Given the description of an element on the screen output the (x, y) to click on. 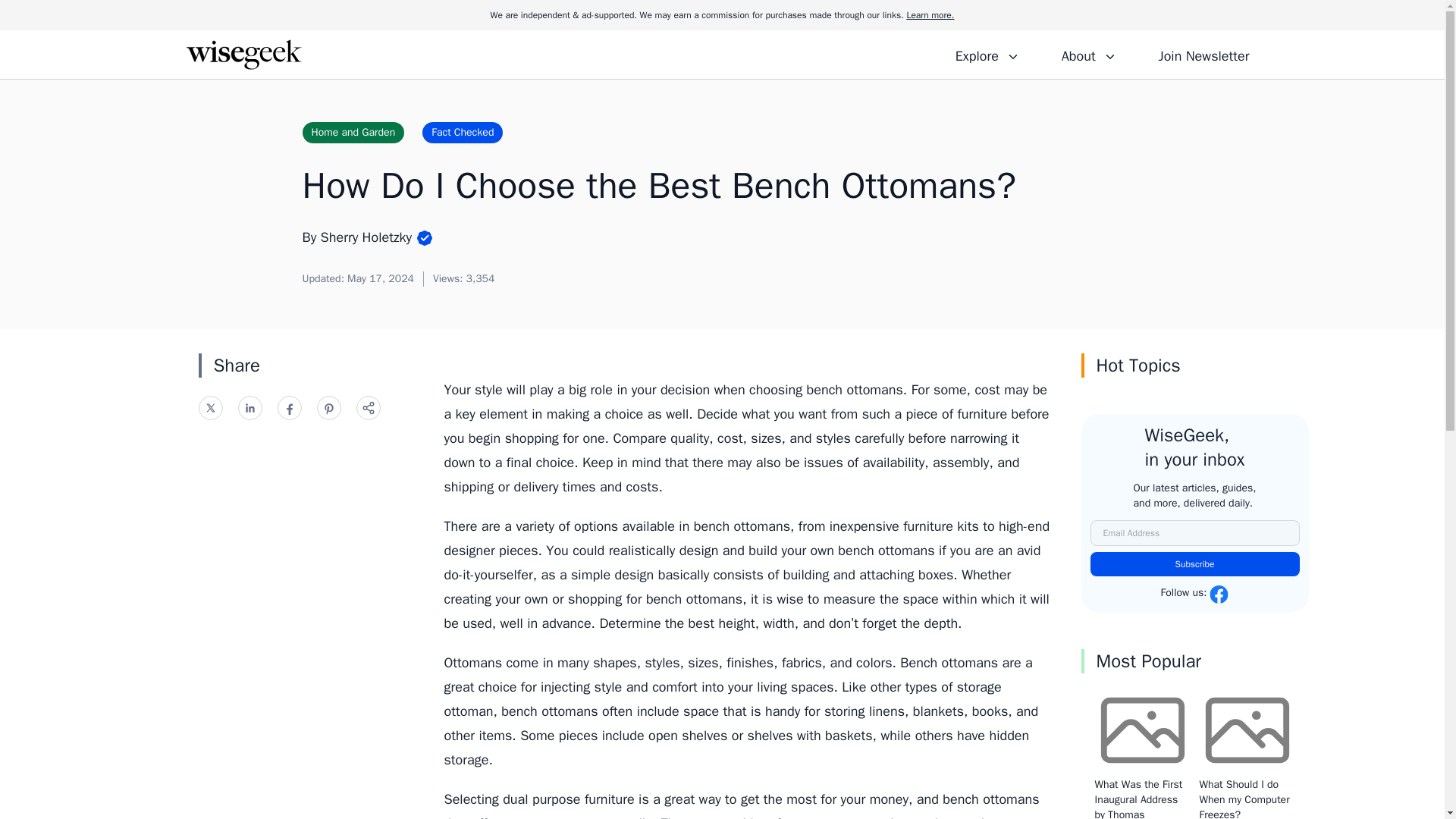
Home and Garden (352, 132)
Subscribe (1195, 564)
Explore (986, 54)
What Was the First Inaugural Address by Thomas Jefferson? (1138, 798)
Join Newsletter (1202, 54)
Fact Checked (462, 132)
About (1088, 54)
Follow us: (1194, 594)
Learn more. (929, 15)
